Given the description of an element on the screen output the (x, y) to click on. 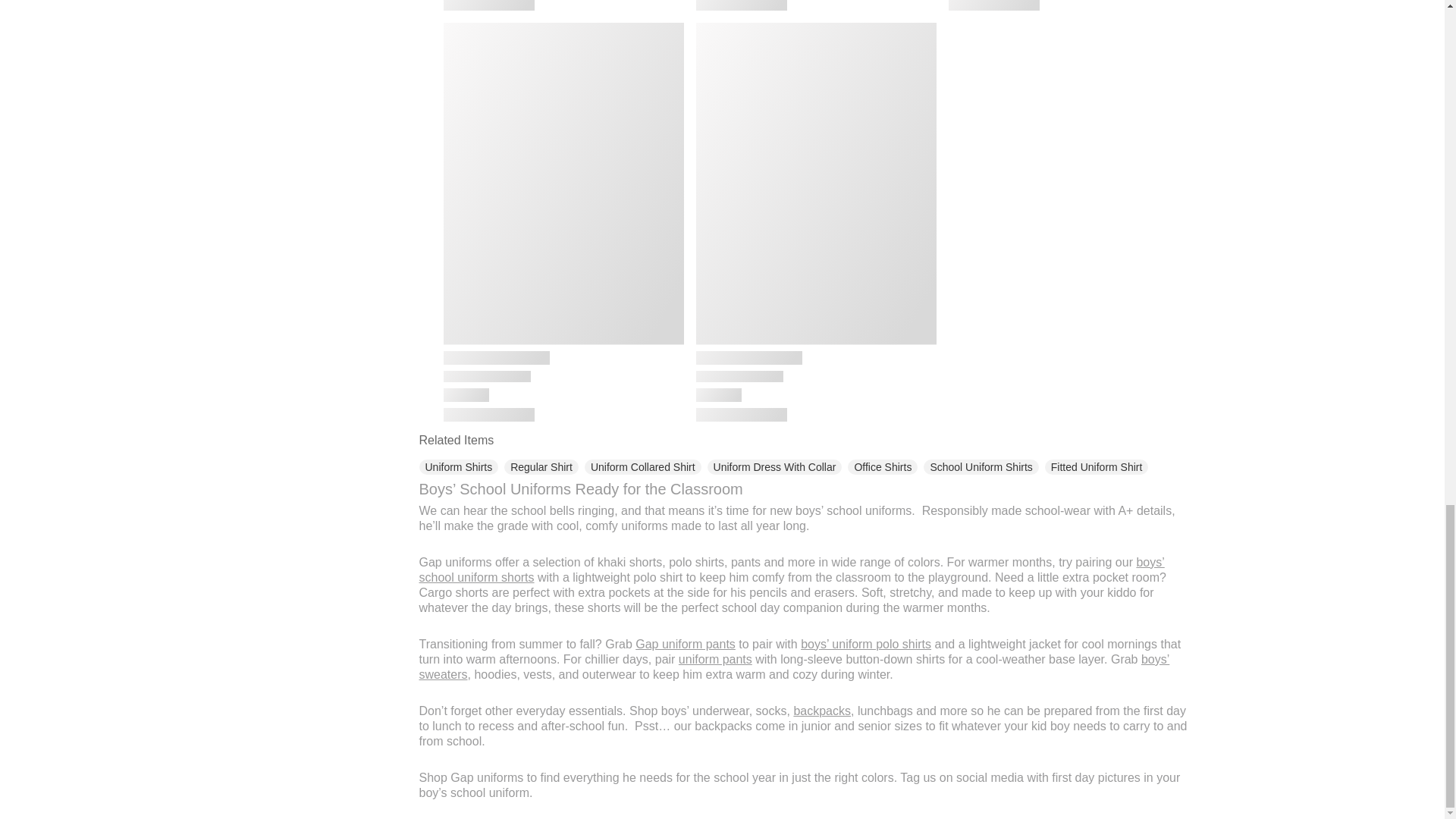
Uniform Collared Shirt (643, 467)
Uniform Shirts (458, 467)
Regular Shirt (540, 467)
